Given the description of an element on the screen output the (x, y) to click on. 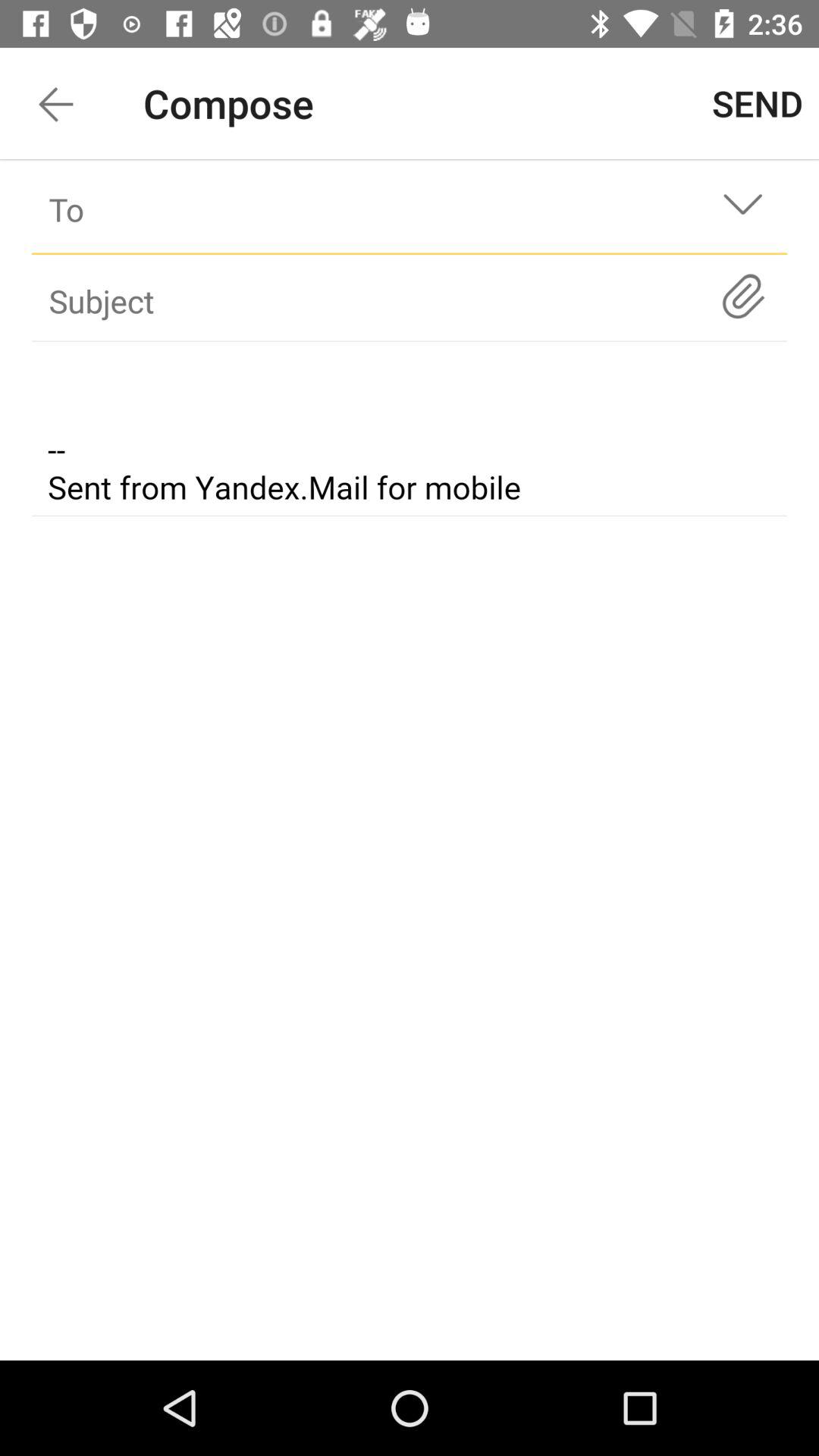
footer of email (409, 431)
